Given the description of an element on the screen output the (x, y) to click on. 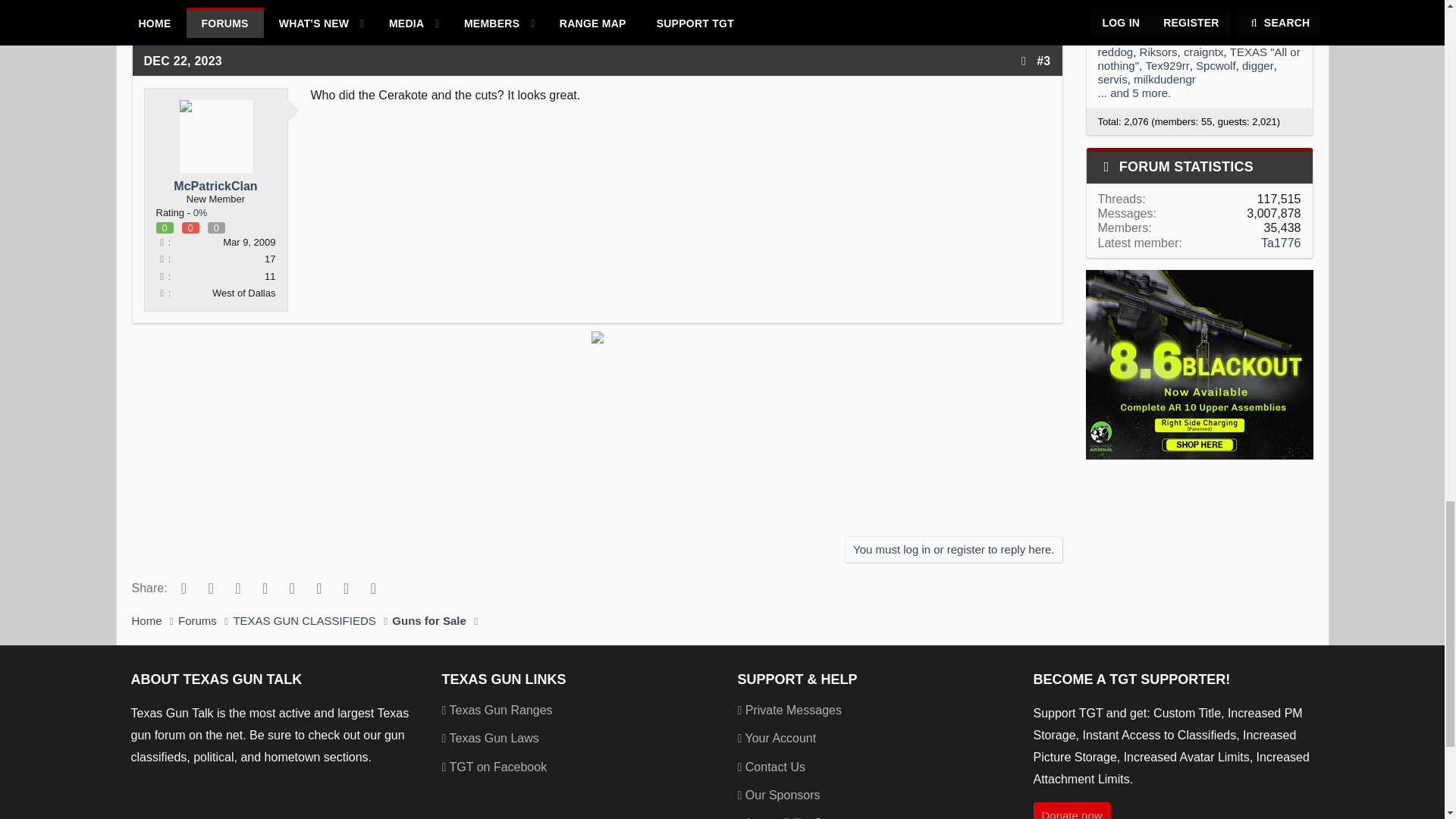
Dec 22, 2023 at 10:04 AM (183, 60)
